Given the description of an element on the screen output the (x, y) to click on. 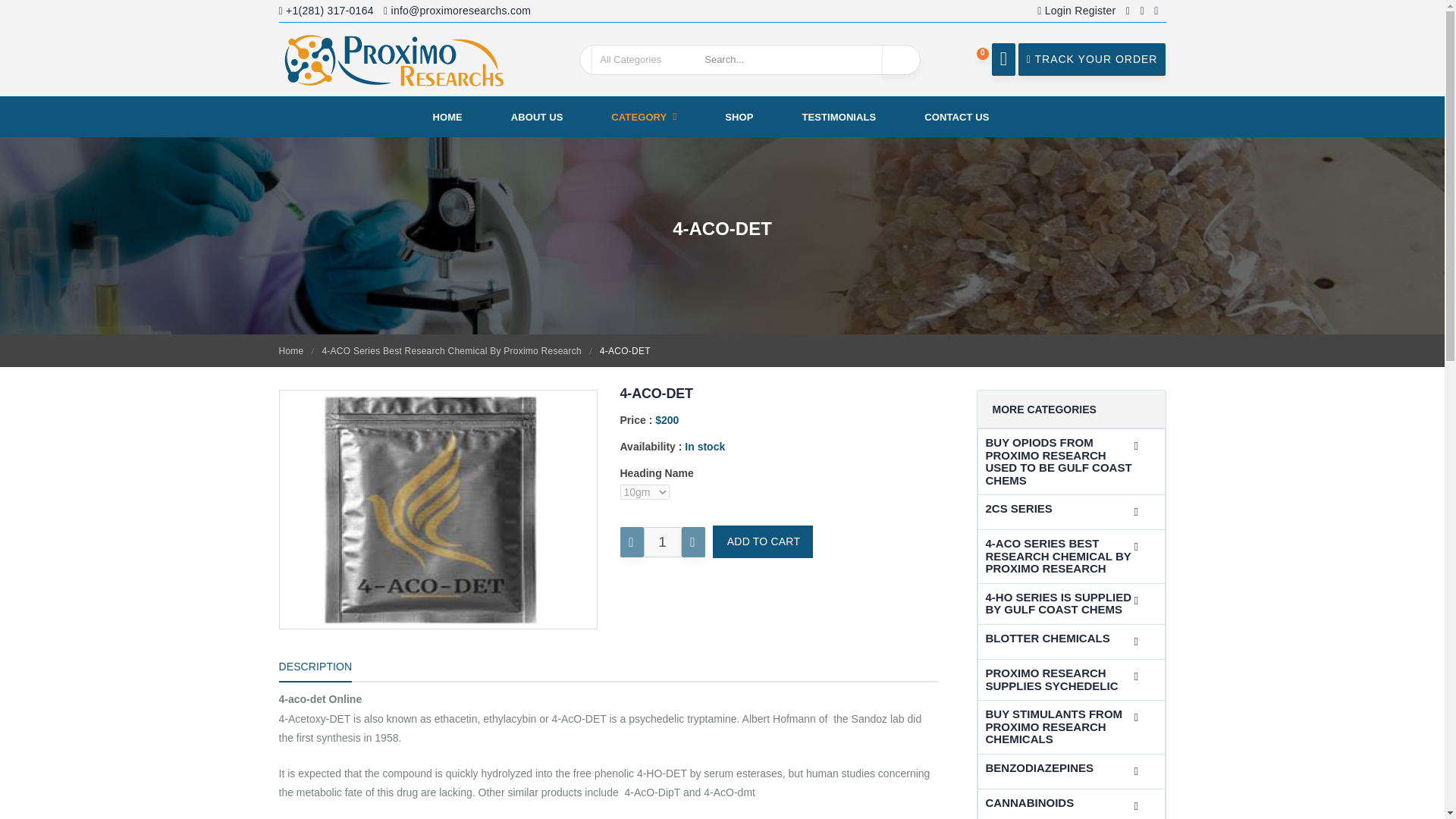
TESTIMONIALS (838, 116)
BUY OPIODS FROM PROXIMO RESEARCH USED TO BE GULF COAST CHEMS (1059, 461)
0 (1002, 59)
4-ACO-DET (437, 509)
HOME (446, 116)
4-ACO Series Best Research Chemical By Proximo Research (450, 350)
SHOP (738, 116)
Add to Cart (762, 541)
ABOUT US (537, 116)
CATEGORY (643, 116)
CONTACT US (956, 116)
2CS SERIES (1059, 508)
TRACK YOUR ORDER (1091, 59)
Home (291, 350)
1 (662, 542)
